Given the description of an element on the screen output the (x, y) to click on. 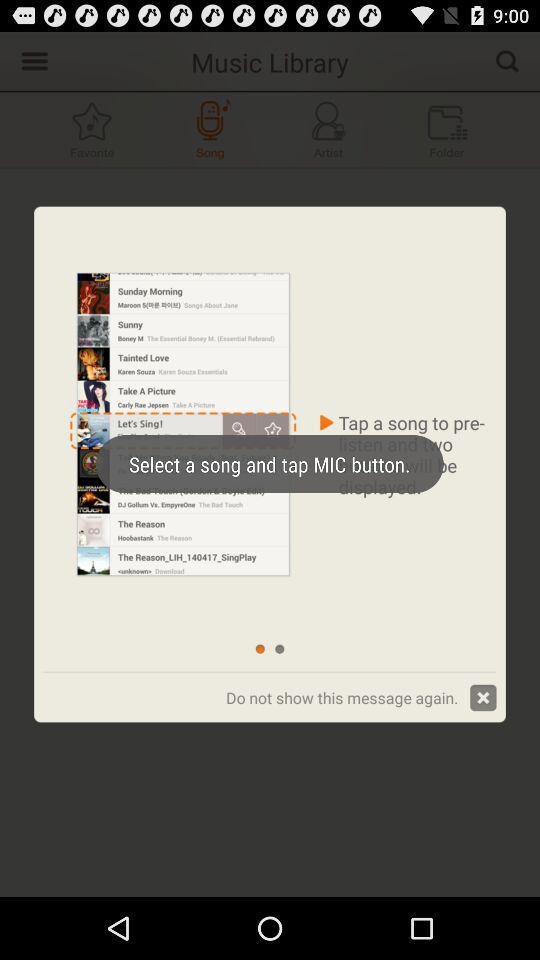
view the music library folder (447, 129)
